Given the description of an element on the screen output the (x, y) to click on. 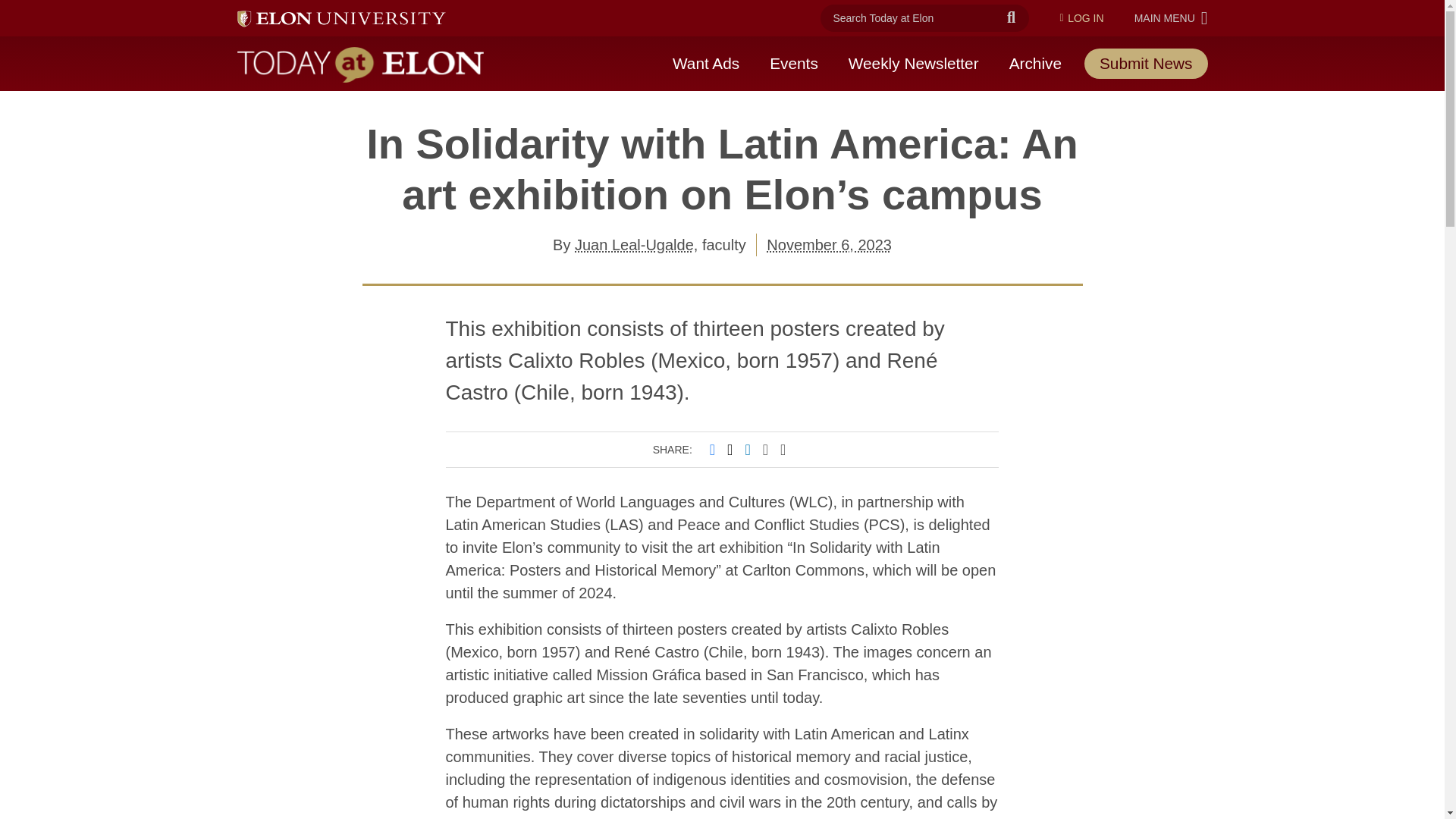
Want Ads (706, 63)
Weekly Newsletter (1171, 18)
Juan Leal-Ugalde (913, 63)
Events (634, 244)
Submit News (793, 63)
November 6, 2023 (1146, 62)
Archive (829, 244)
Submit Search (1035, 63)
LOG IN (1010, 17)
